Given the description of an element on the screen output the (x, y) to click on. 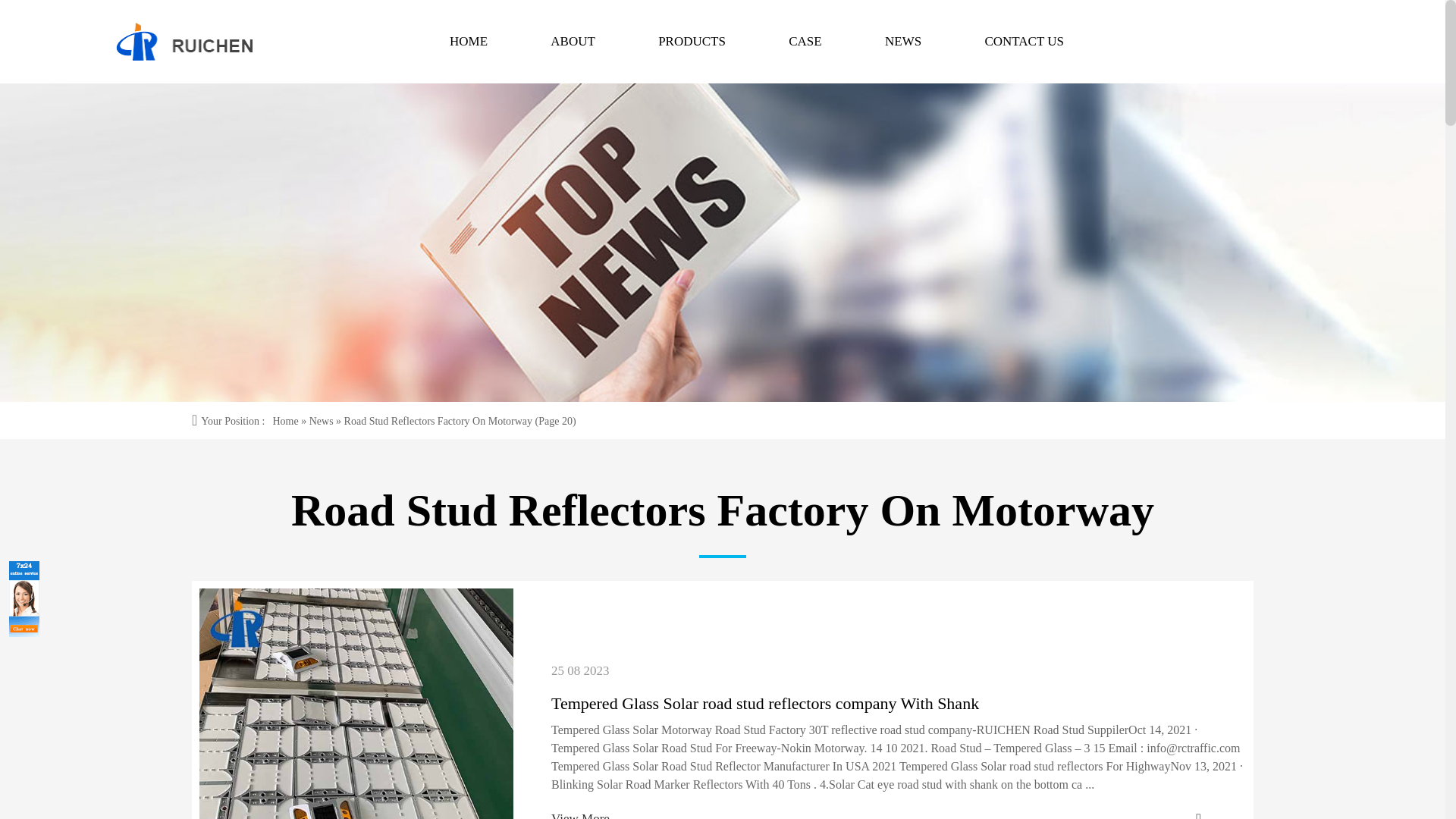
News (320, 420)
Contact us (1023, 41)
Products (691, 41)
CONTACT US (1023, 41)
PRODUCTS (691, 41)
